Given the description of an element on the screen output the (x, y) to click on. 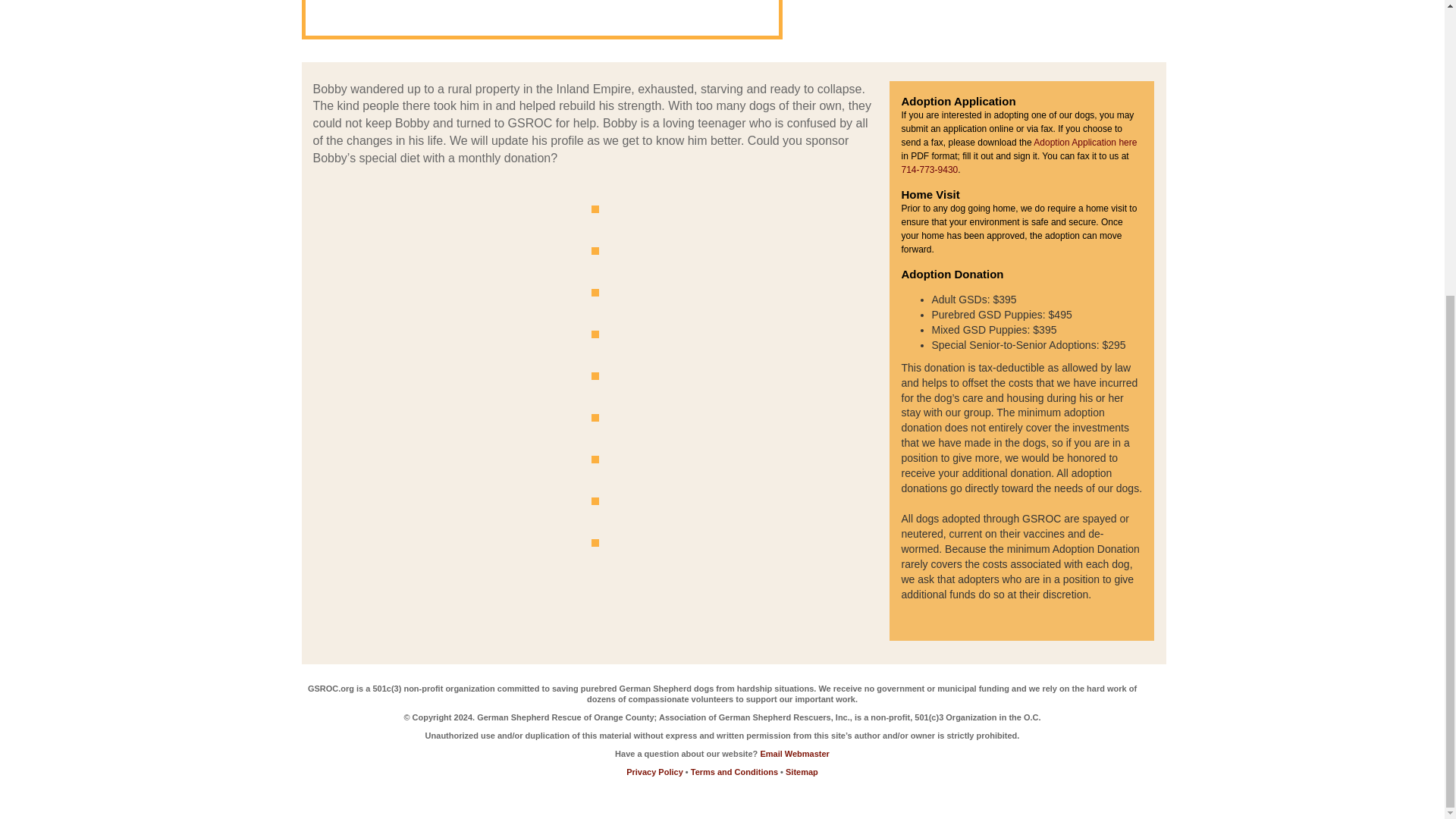
Email Webmaster (794, 753)
Sitemap (802, 771)
Terms and Conditions (733, 771)
Privacy Policy (655, 771)
714-773-9430 (929, 169)
Adoption Application here (1085, 142)
